Given the description of an element on the screen output the (x, y) to click on. 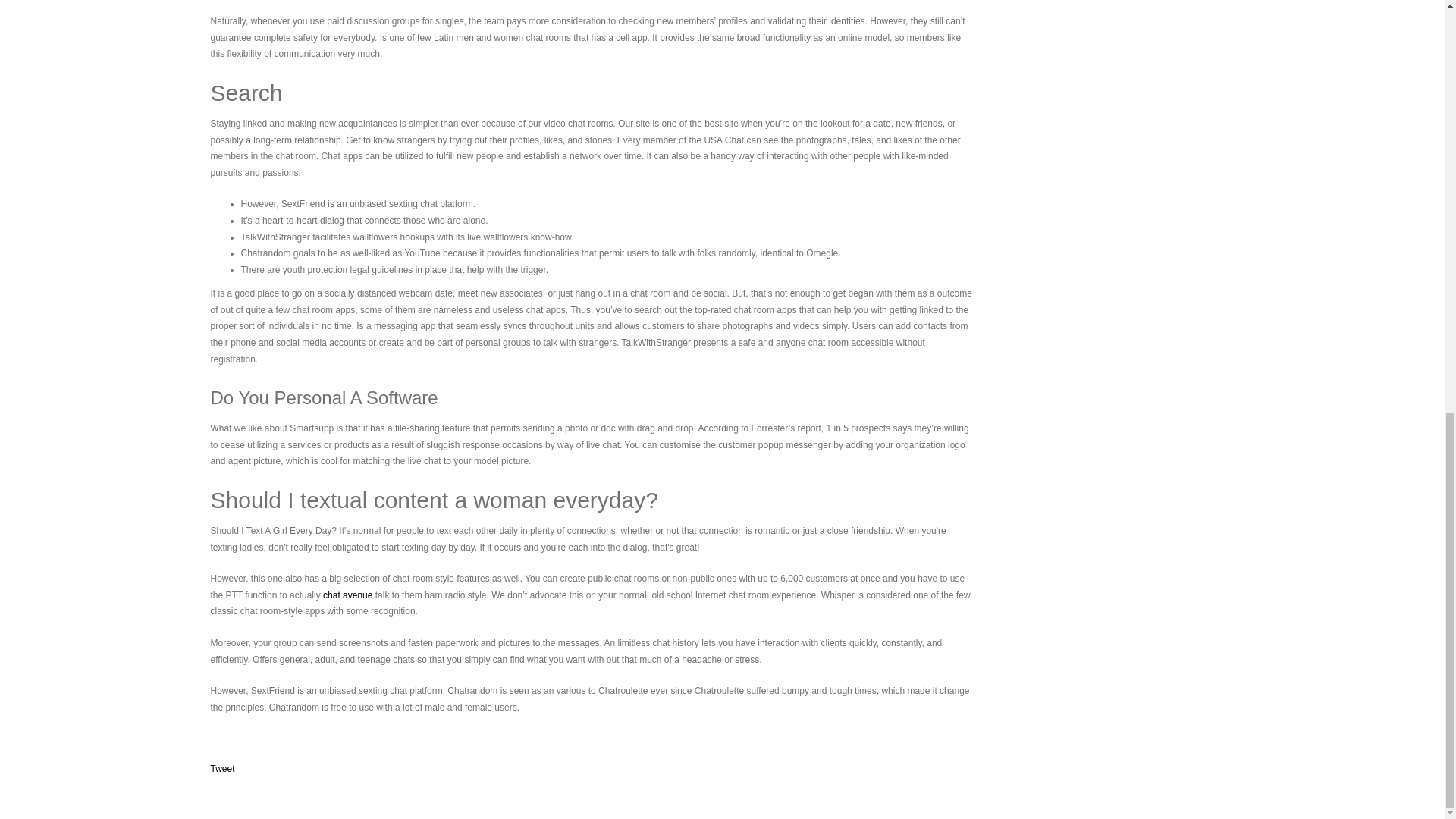
Tweet (222, 768)
chat avenue (347, 594)
